Given the description of an element on the screen output the (x, y) to click on. 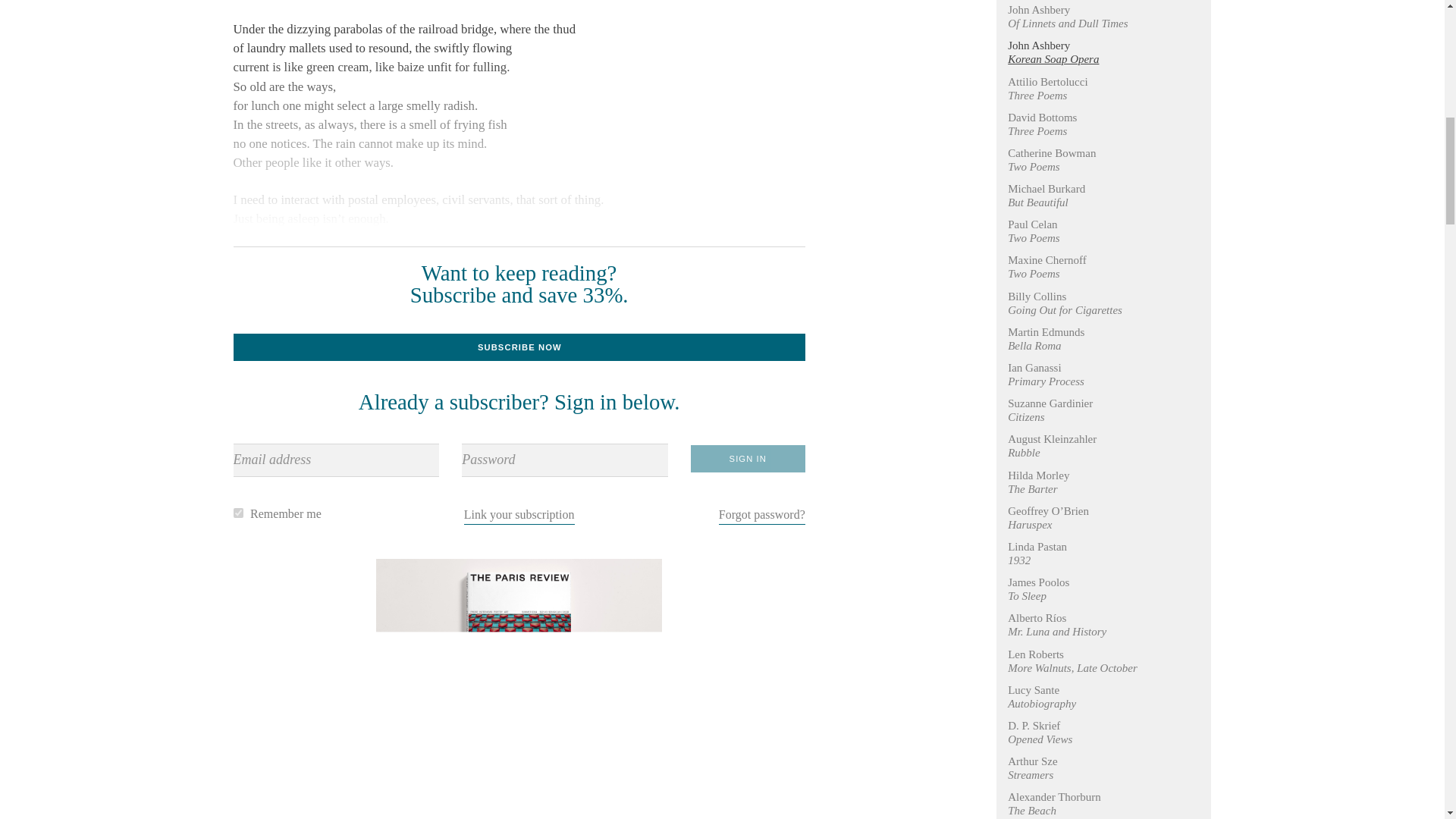
remember (237, 512)
Sign In (747, 458)
